Given the description of an element on the screen output the (x, y) to click on. 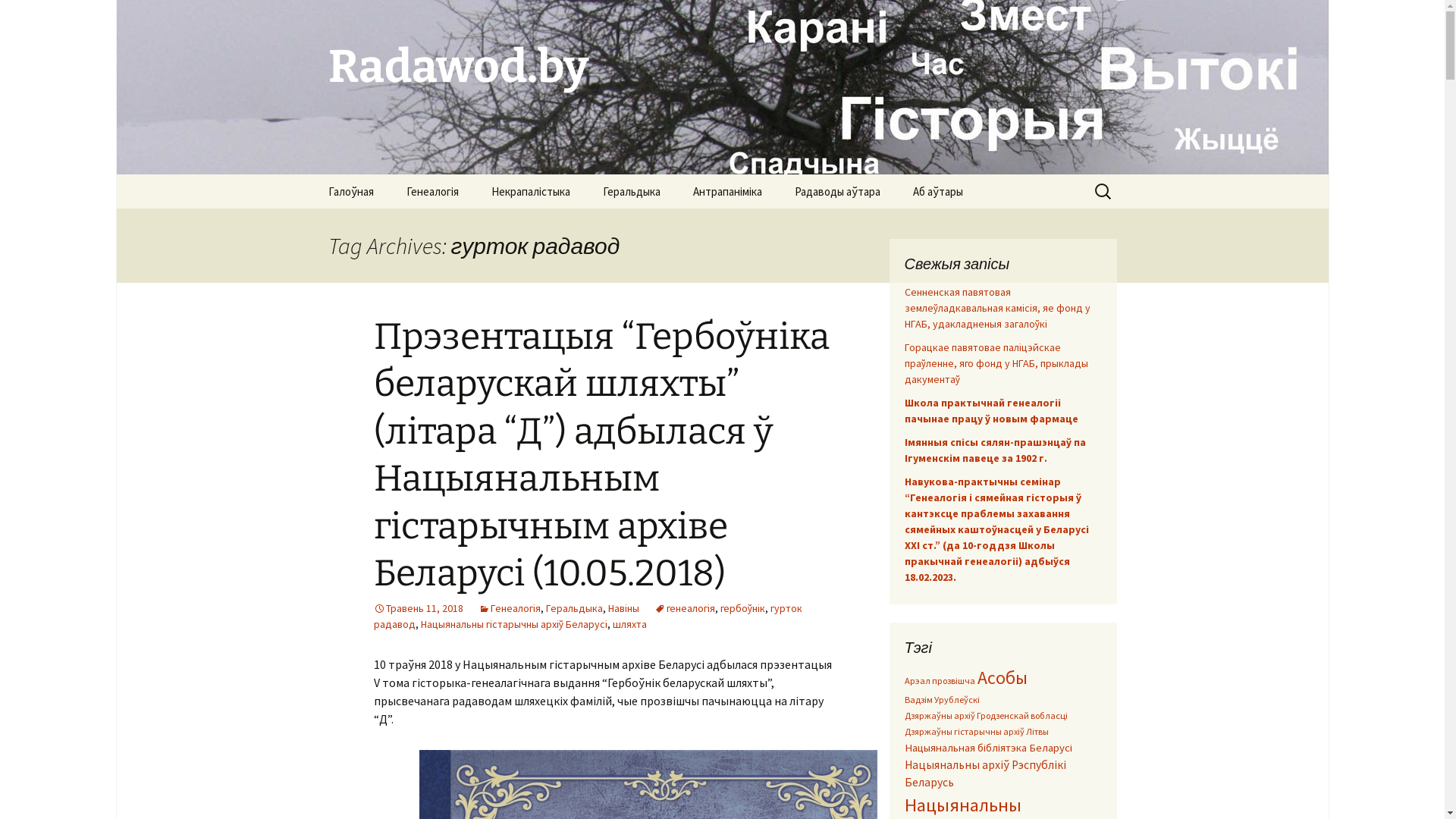
Skip to content Element type: text (312, 173)
Search Element type: text (18, 16)
Radawod.by Element type: text (721, 87)
Search Element type: text (34, 15)
